Given the description of an element on the screen output the (x, y) to click on. 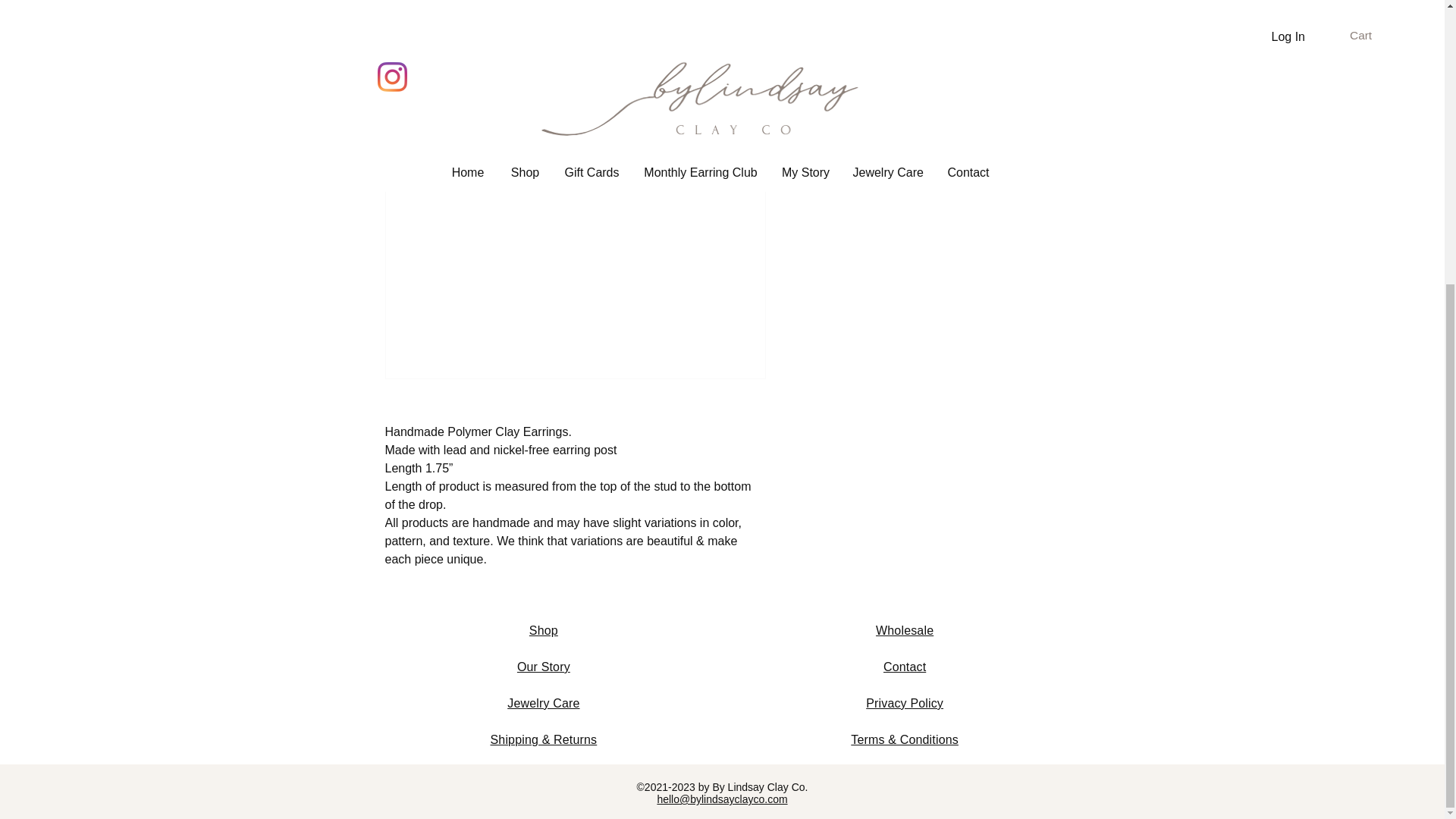
Our Story (543, 666)
Contact (904, 666)
Jewelry Care (542, 703)
Privacy Policy (904, 703)
Wholesale (904, 630)
Add to Cart (906, 39)
Shop (543, 630)
Buy Now (924, 80)
